Given the description of an element on the screen output the (x, y) to click on. 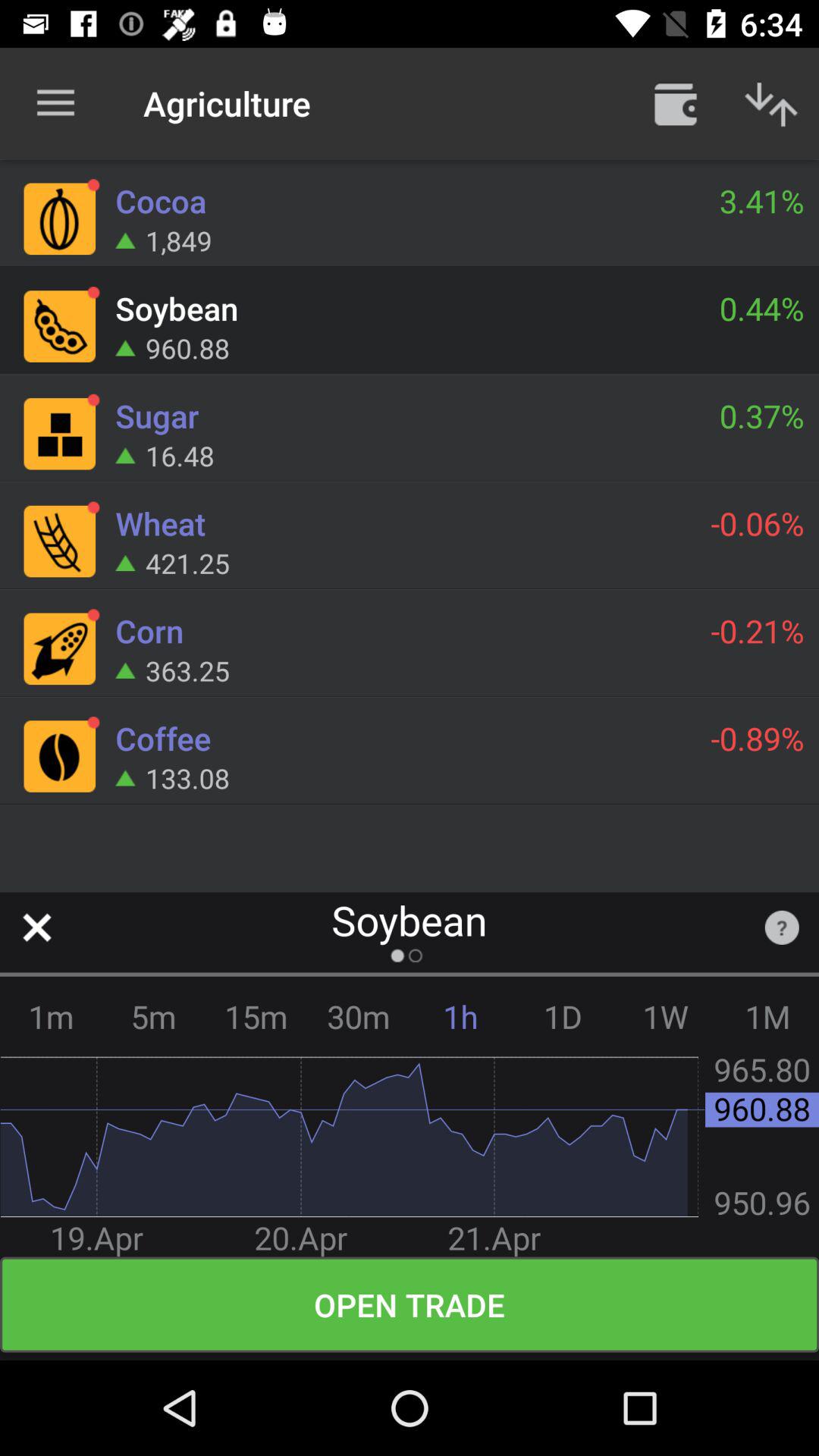
choose item next to the 1d (665, 1016)
